Given the description of an element on the screen output the (x, y) to click on. 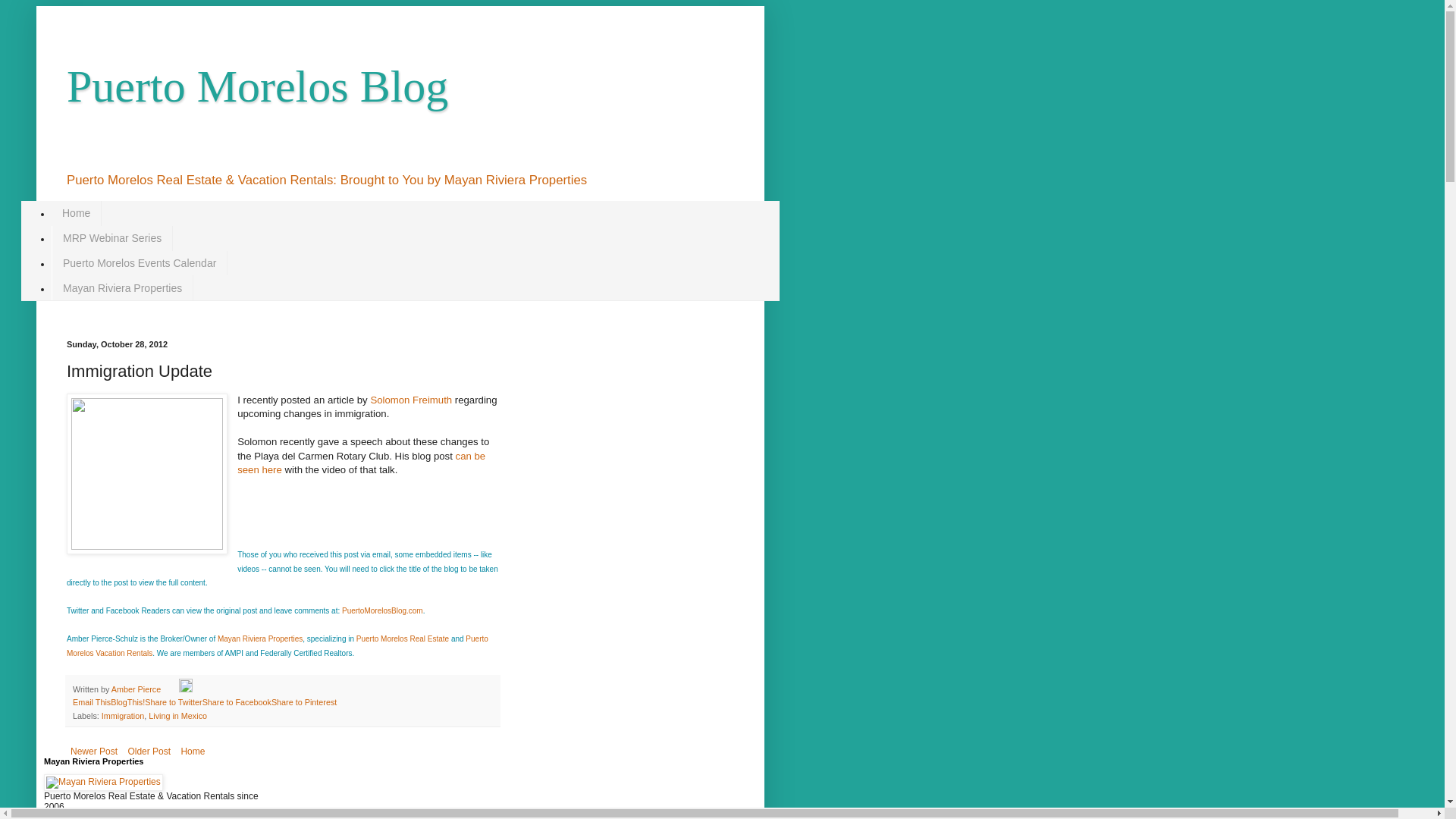
Puerto Morelos Blog (257, 86)
Share to Twitter (173, 701)
Puerto Morelos Events Calendar (138, 263)
Share to Pinterest (303, 701)
Amber Pierce (137, 688)
Immigration (122, 715)
Share to Pinterest (303, 701)
Edit Post (185, 688)
Mayan Riviera Properties (121, 287)
Puerto Morelos Vacation Rentals (276, 645)
